Given the description of an element on the screen output the (x, y) to click on. 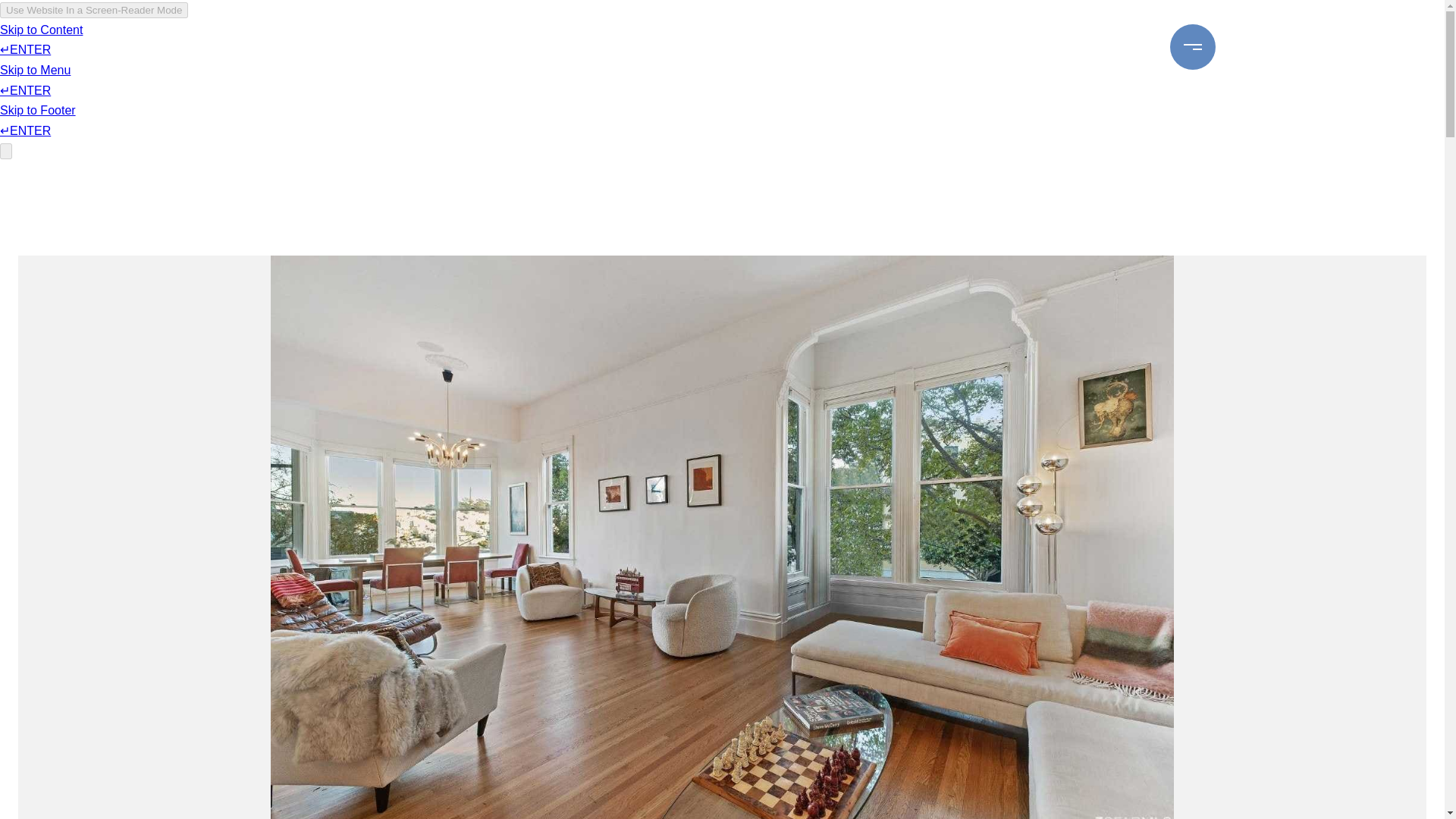
Team Howe (988, 46)
Communities (602, 46)
Selling (781, 46)
About Us (1090, 46)
Properties (510, 46)
Search Homes (885, 46)
Buying (701, 46)
